Given the description of an element on the screen output the (x, y) to click on. 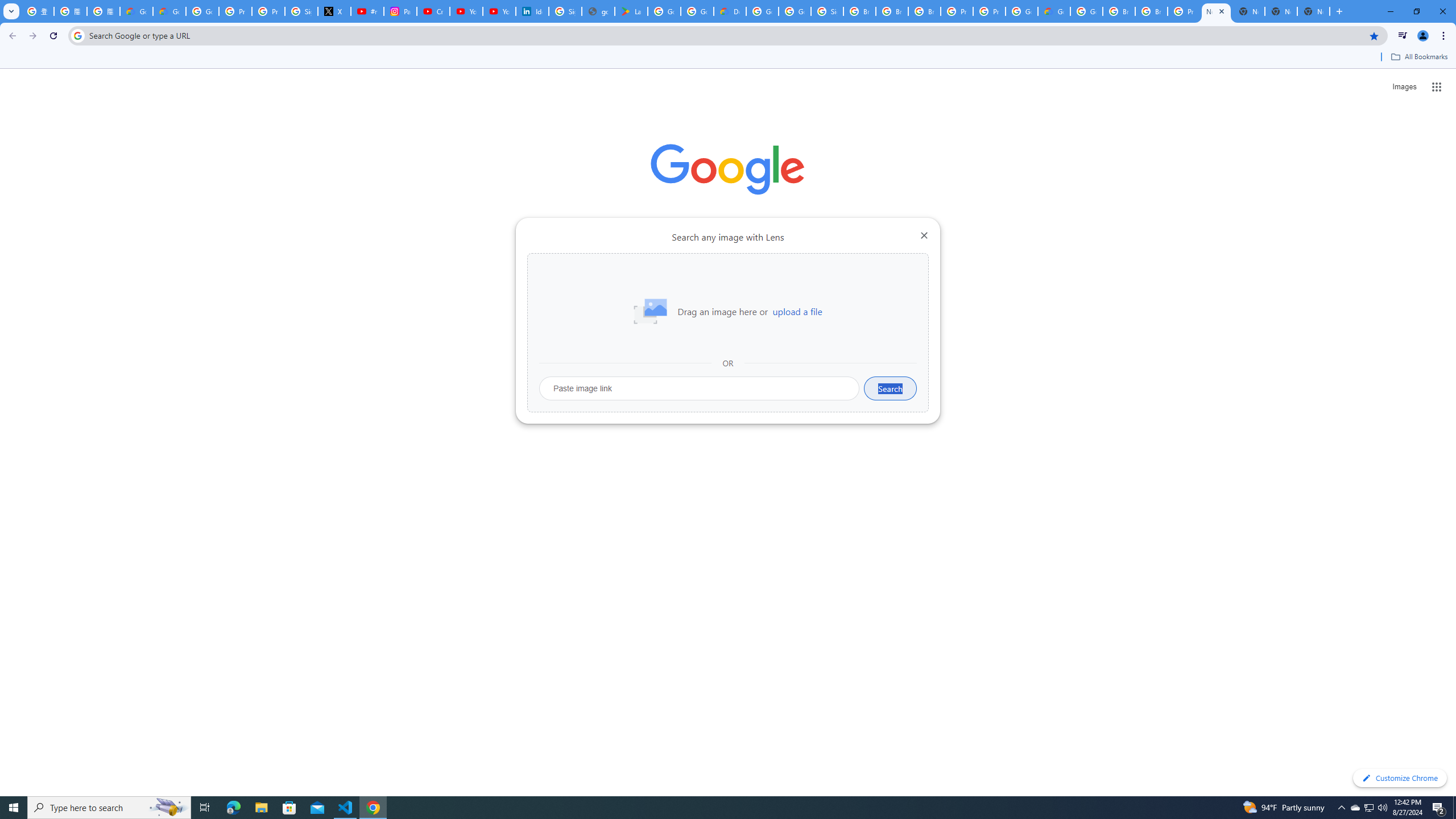
Google Cloud Privacy Notice (169, 11)
Google Cloud Platform (762, 11)
